Given the description of an element on the screen output the (x, y) to click on. 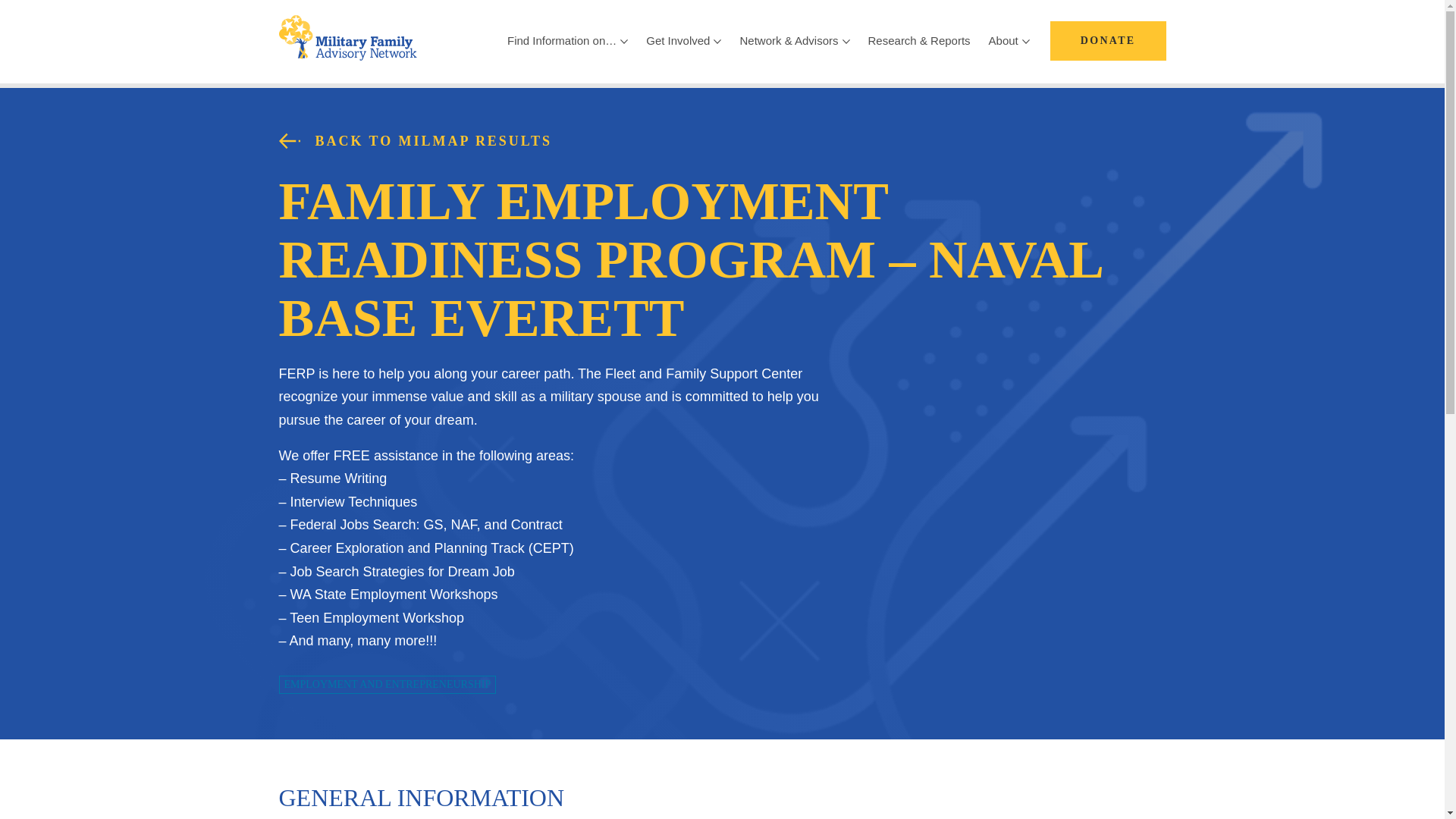
About (1009, 40)
Get Involved (683, 40)
Find Information on... (567, 40)
DONATE (1107, 40)
EMPLOYMENT AND ENTREPRENEURSHIP (387, 684)
About (1009, 40)
BACK TO MILMAP RESULTS (722, 141)
Get Involved (683, 40)
